Given the description of an element on the screen output the (x, y) to click on. 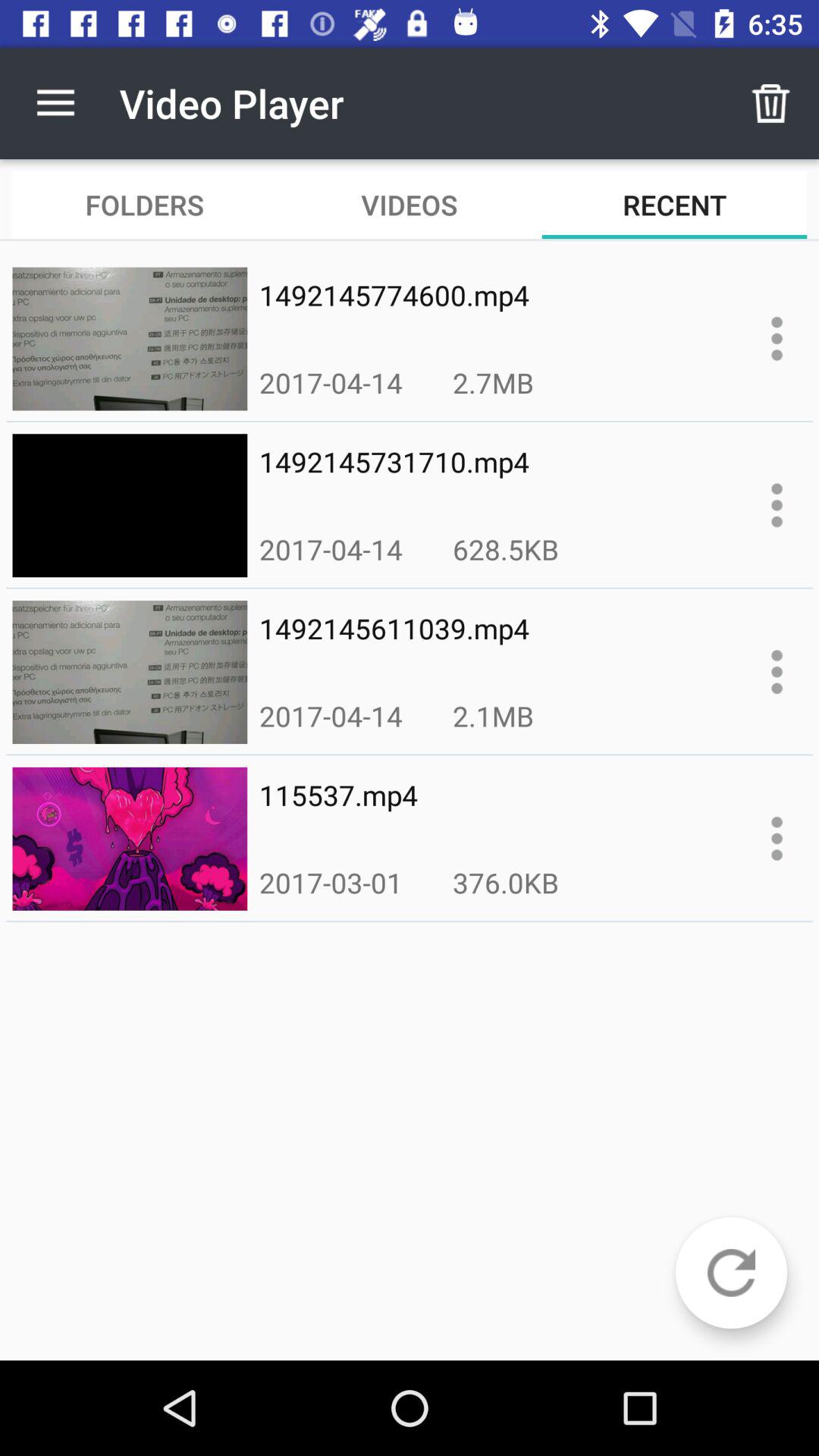
tap the item next to the 2017-04-14 item (505, 549)
